Given the description of an element on the screen output the (x, y) to click on. 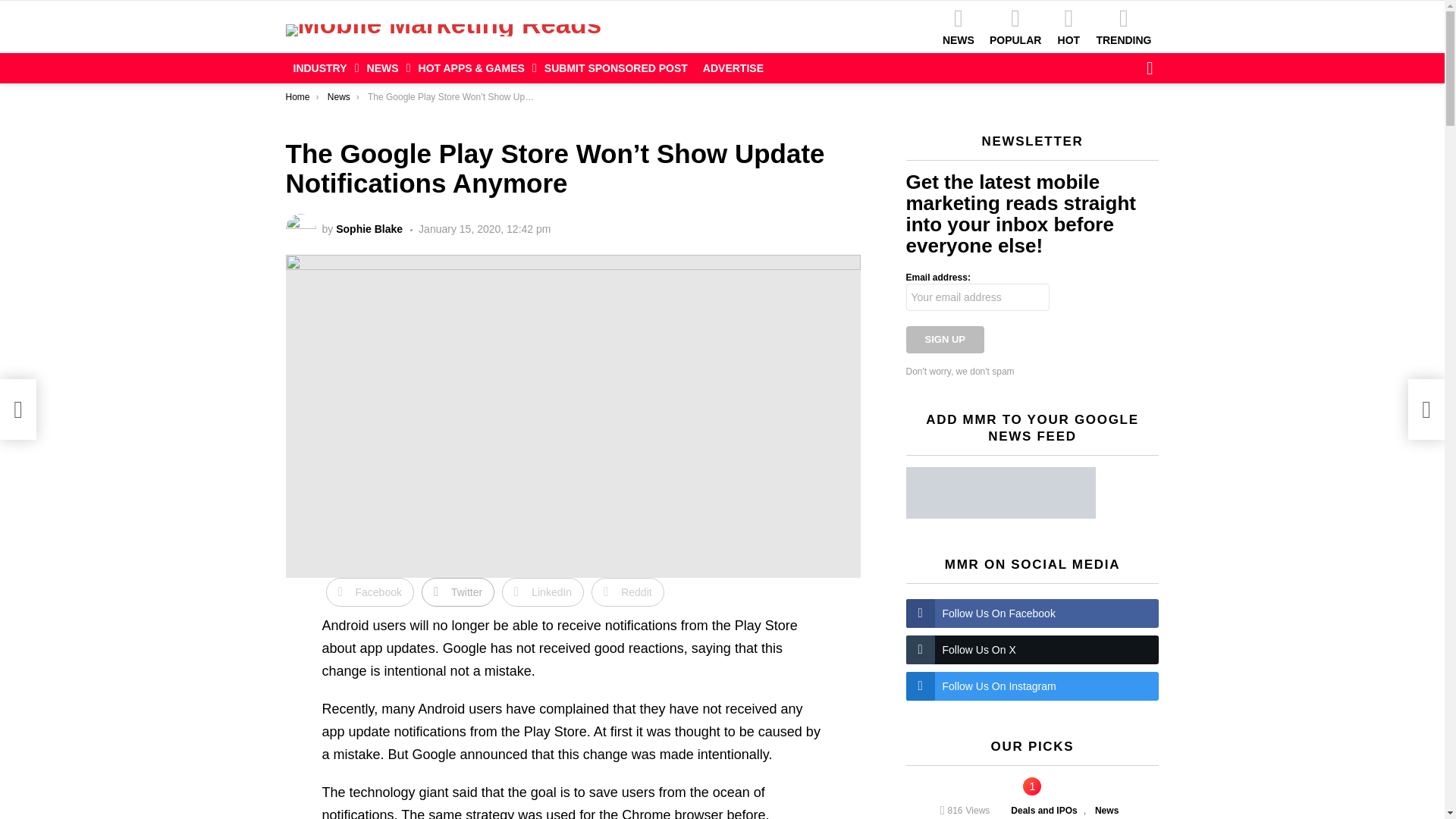
Sign up (944, 338)
ADVERTISE (733, 67)
SUBMIT SPONSORED POST (616, 67)
TRENDING (1122, 25)
NEWS (957, 25)
Posts by Sophie Blake (369, 228)
HOT (1067, 25)
INDUSTRY (321, 67)
NEWS (384, 67)
POPULAR (1014, 25)
